Given the description of an element on the screen output the (x, y) to click on. 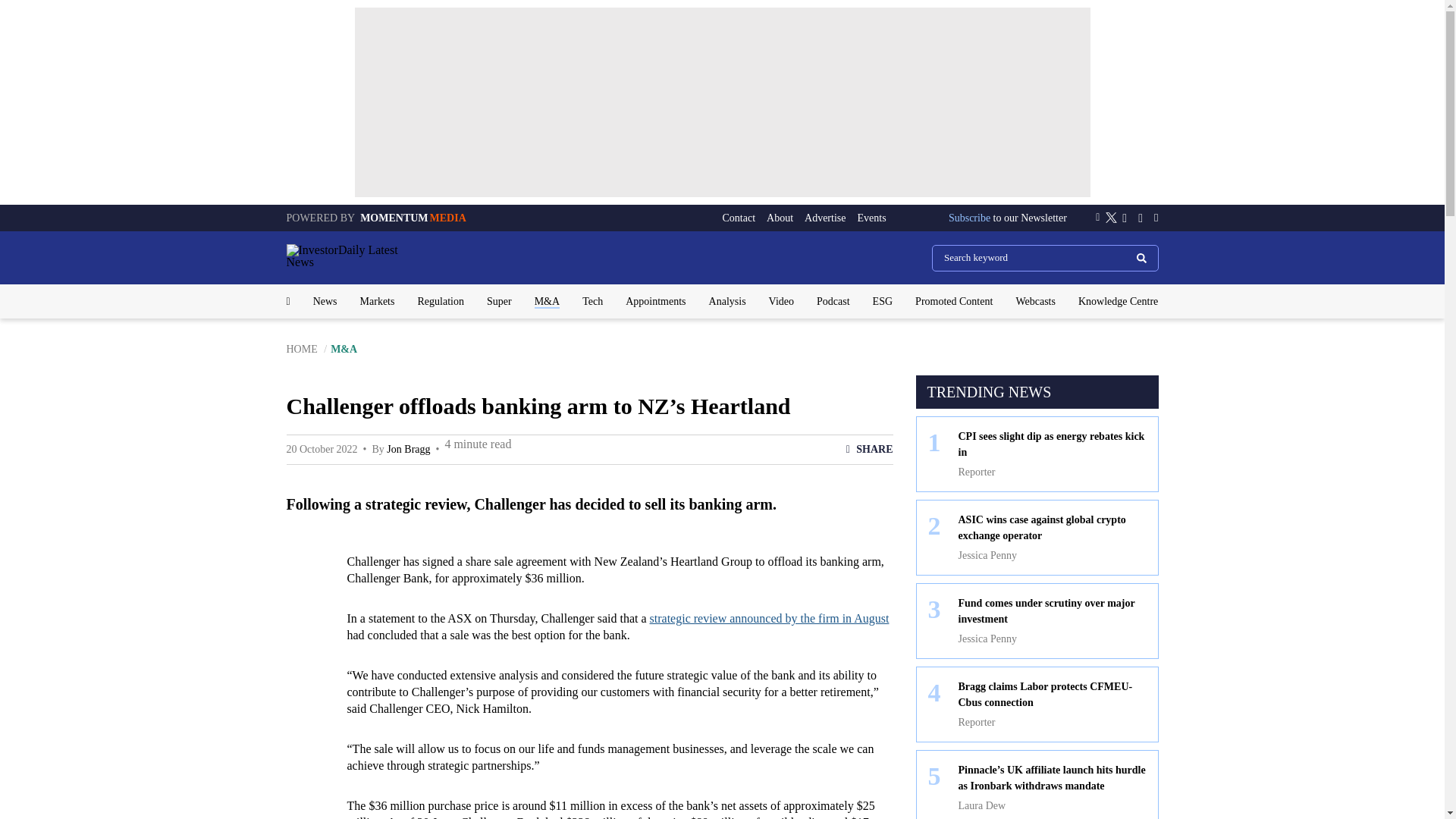
POWERED BY MOMENTUM MEDIA (375, 216)
Advertise (825, 217)
Contact (738, 217)
About (780, 217)
